Given the description of an element on the screen output the (x, y) to click on. 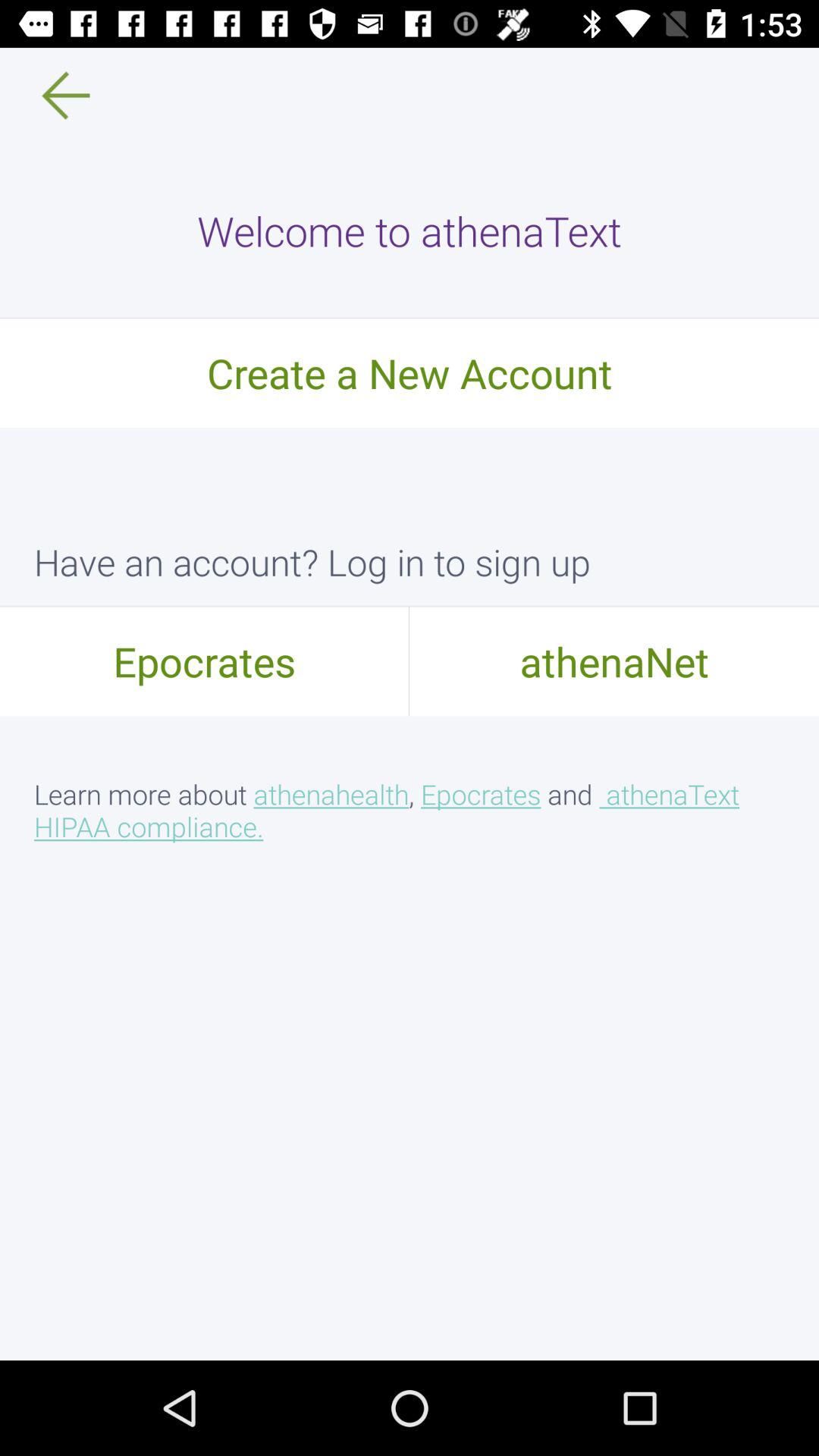
jump to create a new icon (409, 372)
